Given the description of an element on the screen output the (x, y) to click on. 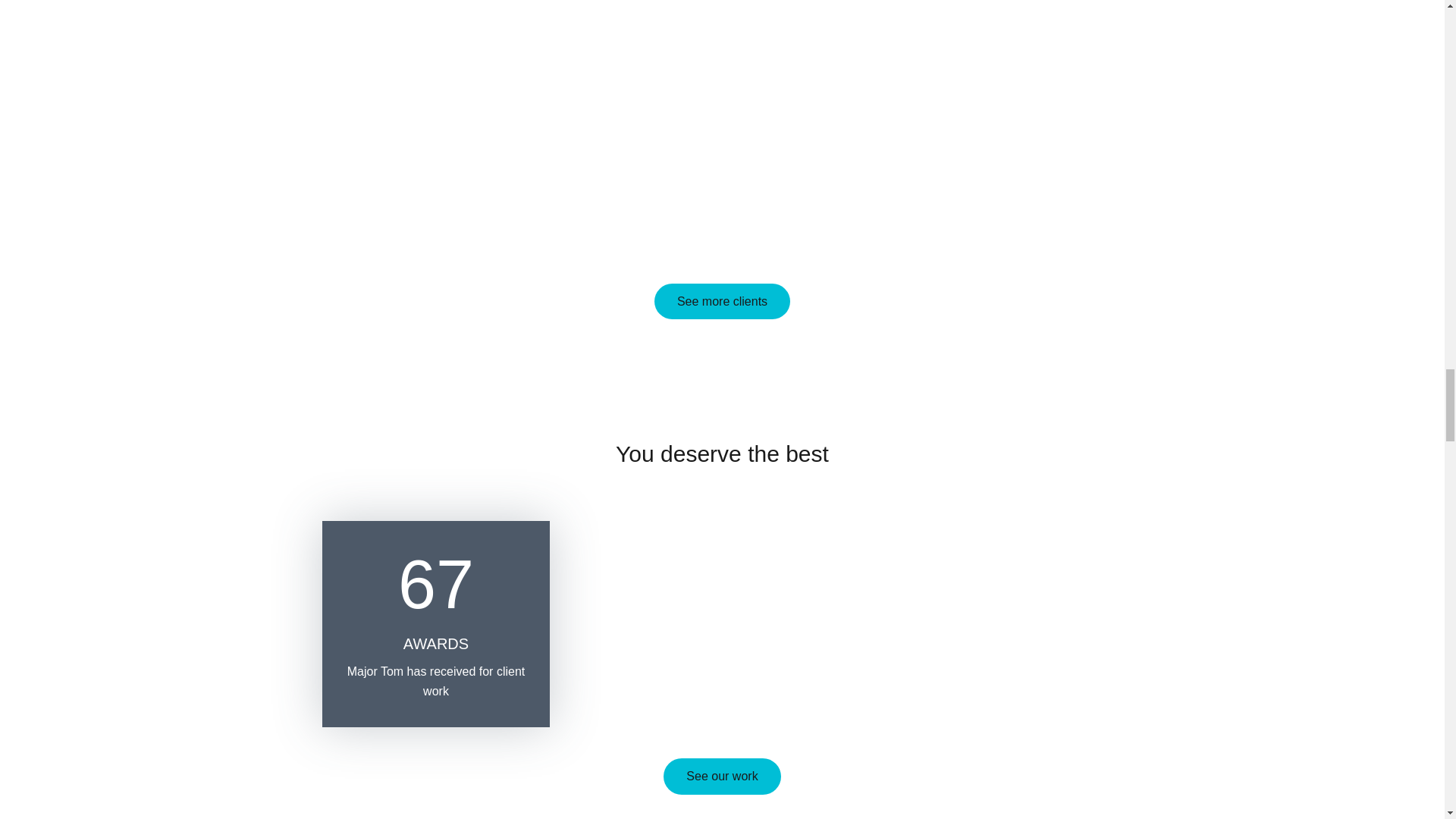
See our work (721, 775)
See our work (721, 775)
See more clients (721, 301)
See more clients (721, 301)
